Given the description of an element on the screen output the (x, y) to click on. 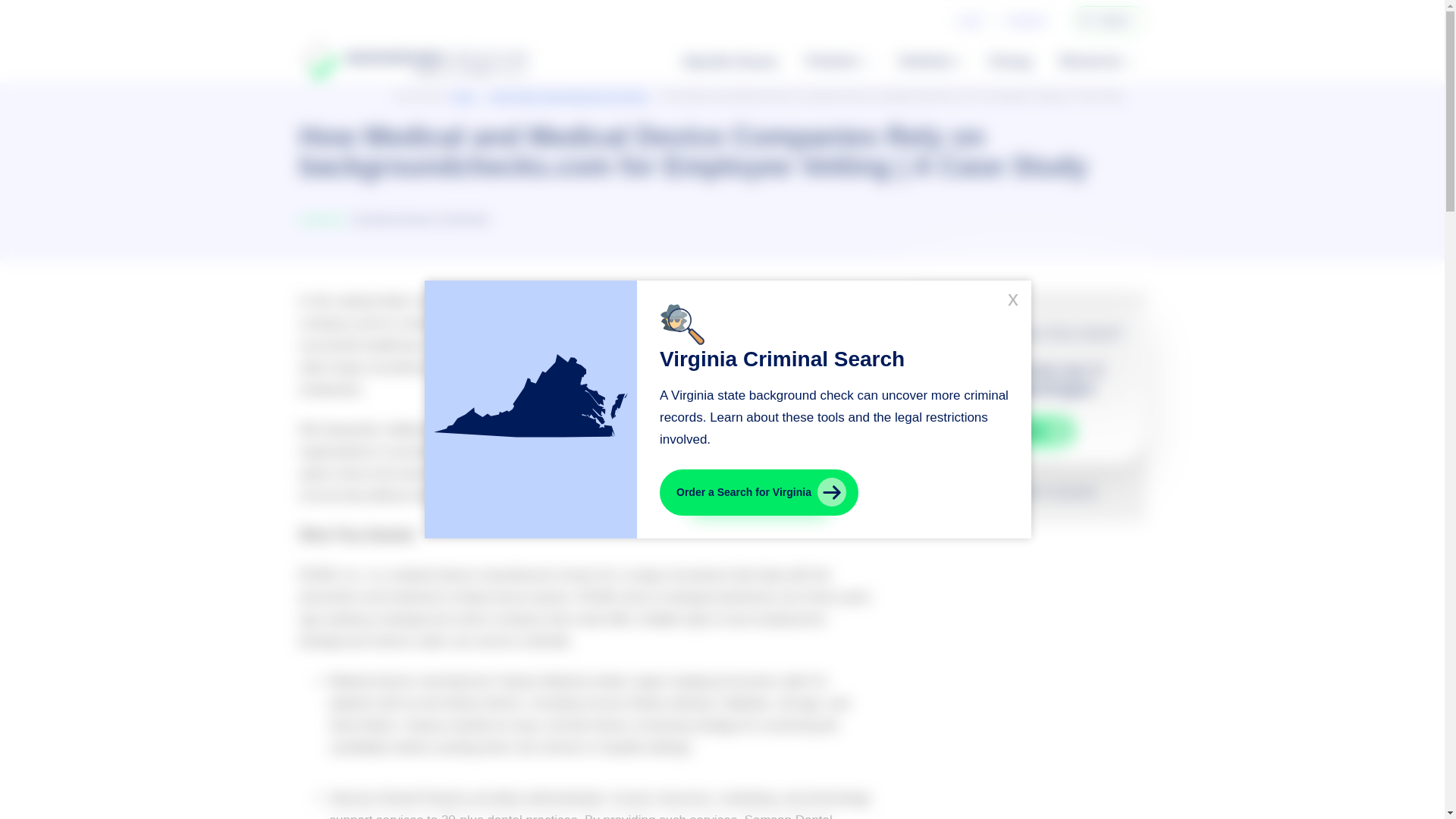
Search (1085, 20)
